Given the description of an element on the screen output the (x, y) to click on. 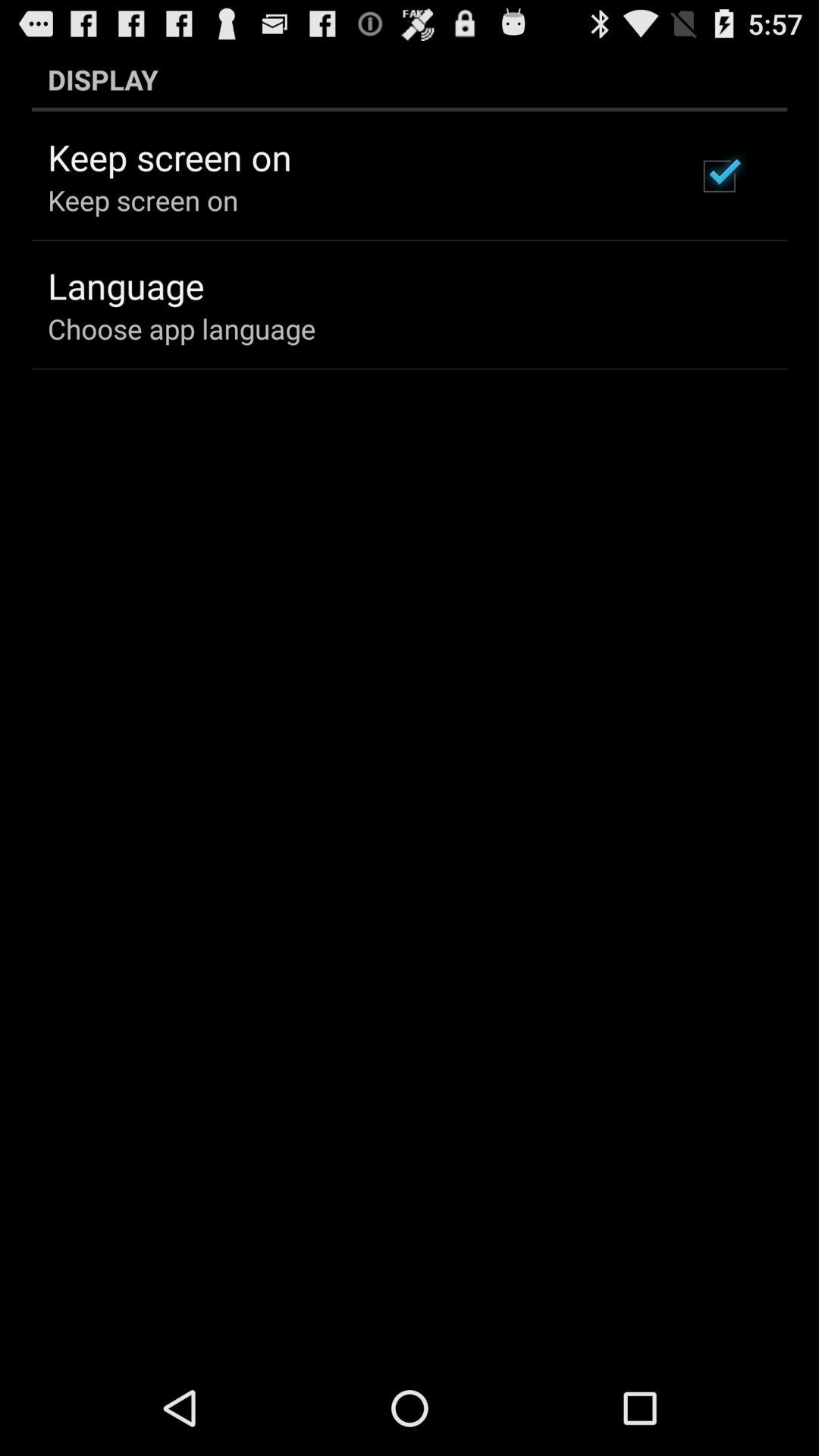
open icon at the top right corner (719, 176)
